Given the description of an element on the screen output the (x, y) to click on. 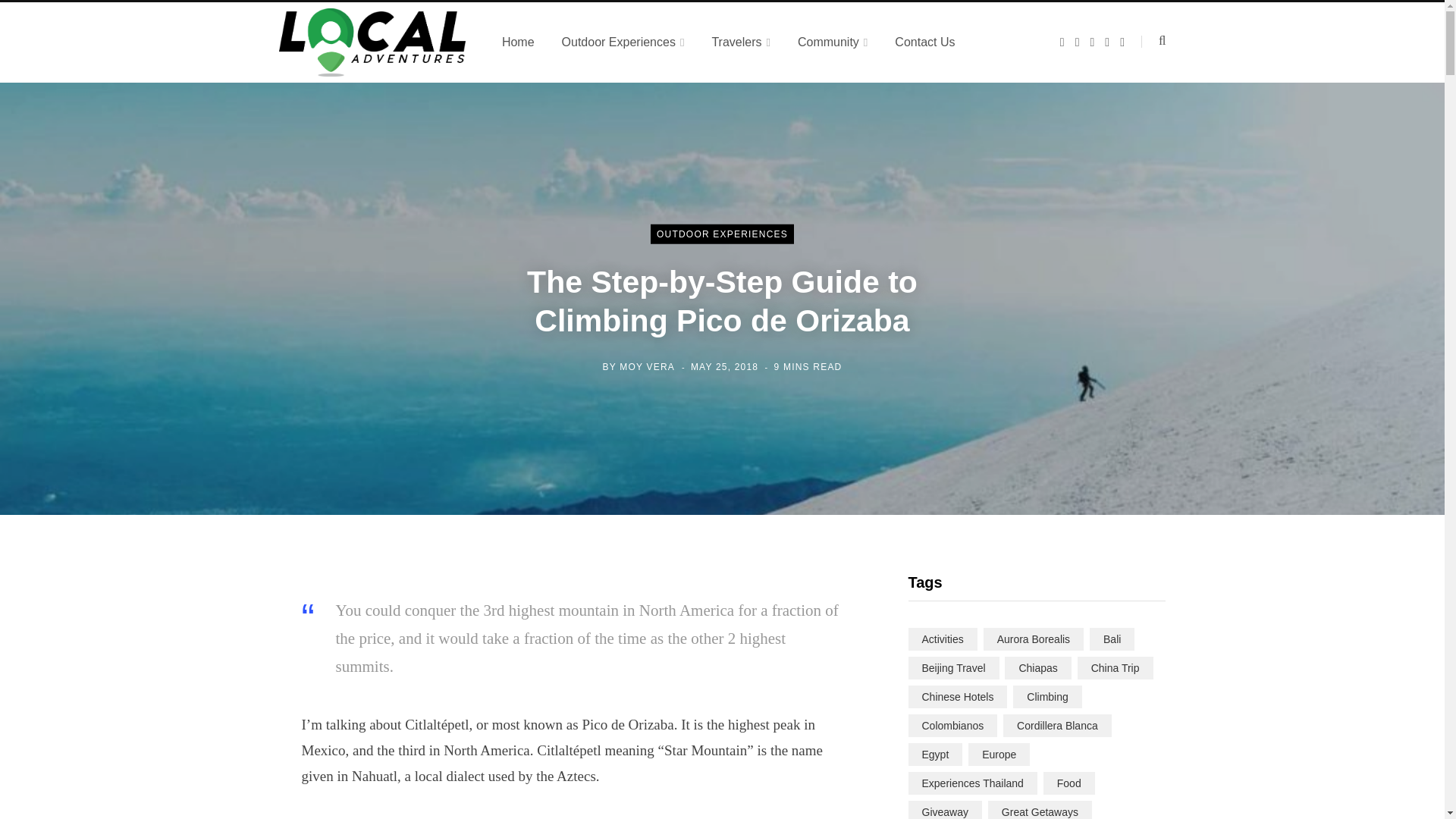
Community (832, 41)
Posts by Moy Vera (647, 366)
Search (1153, 41)
Contact Us (924, 41)
Travelers (740, 41)
MOY VERA (647, 366)
Outdoor Experiences (623, 41)
Home (517, 41)
LocalAdventures (372, 42)
OUTDOOR EXPERIENCES (721, 234)
